Given the description of an element on the screen output the (x, y) to click on. 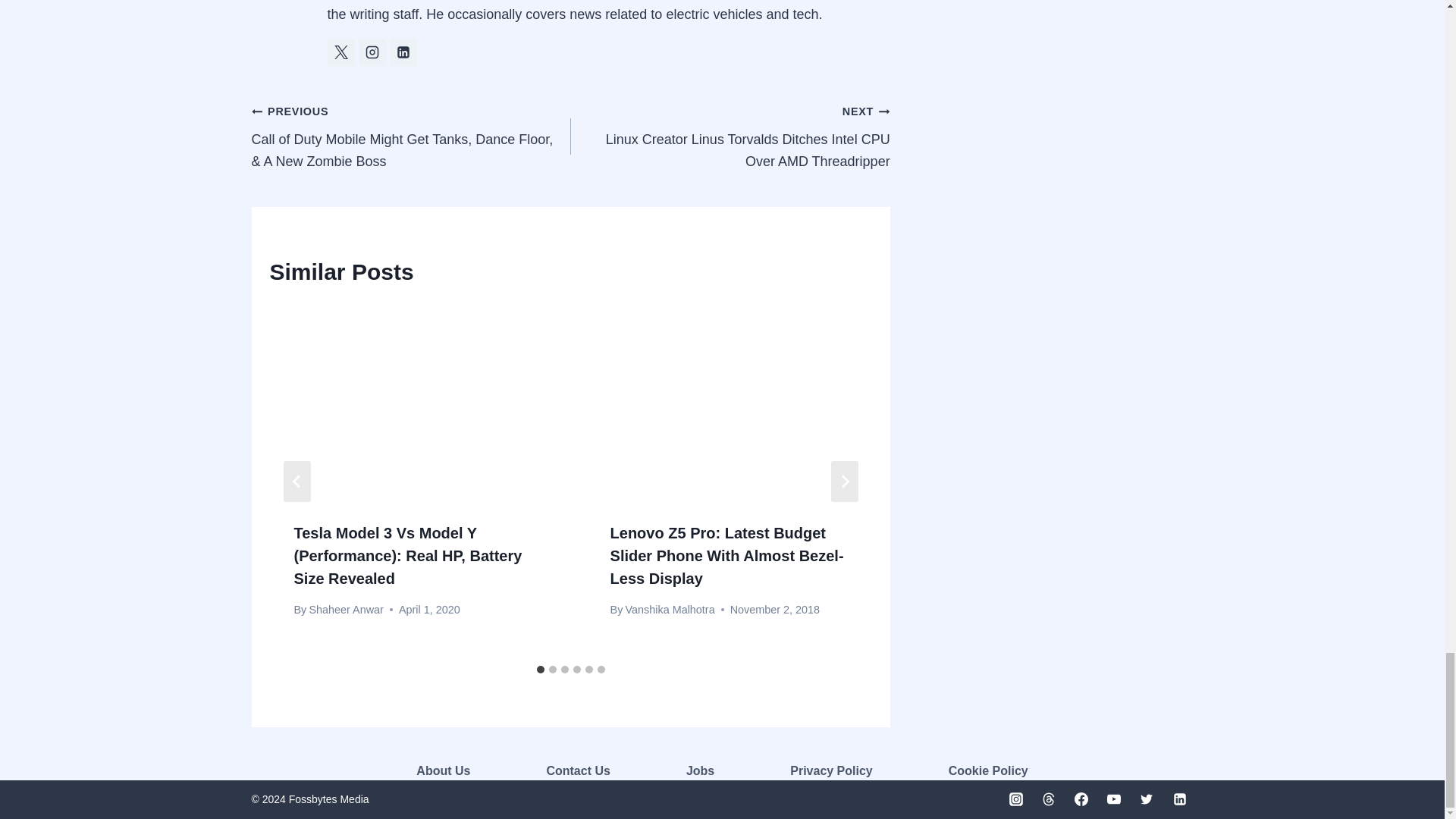
Follow Yetnesh Dubey on Linkedin (403, 52)
Follow Yetnesh Dubey on X formerly Twitter (341, 52)
Shaheer Anwar (345, 608)
Vanshika Malhotra (670, 608)
Follow Yetnesh Dubey on Instagram (371, 52)
